Given the description of an element on the screen output the (x, y) to click on. 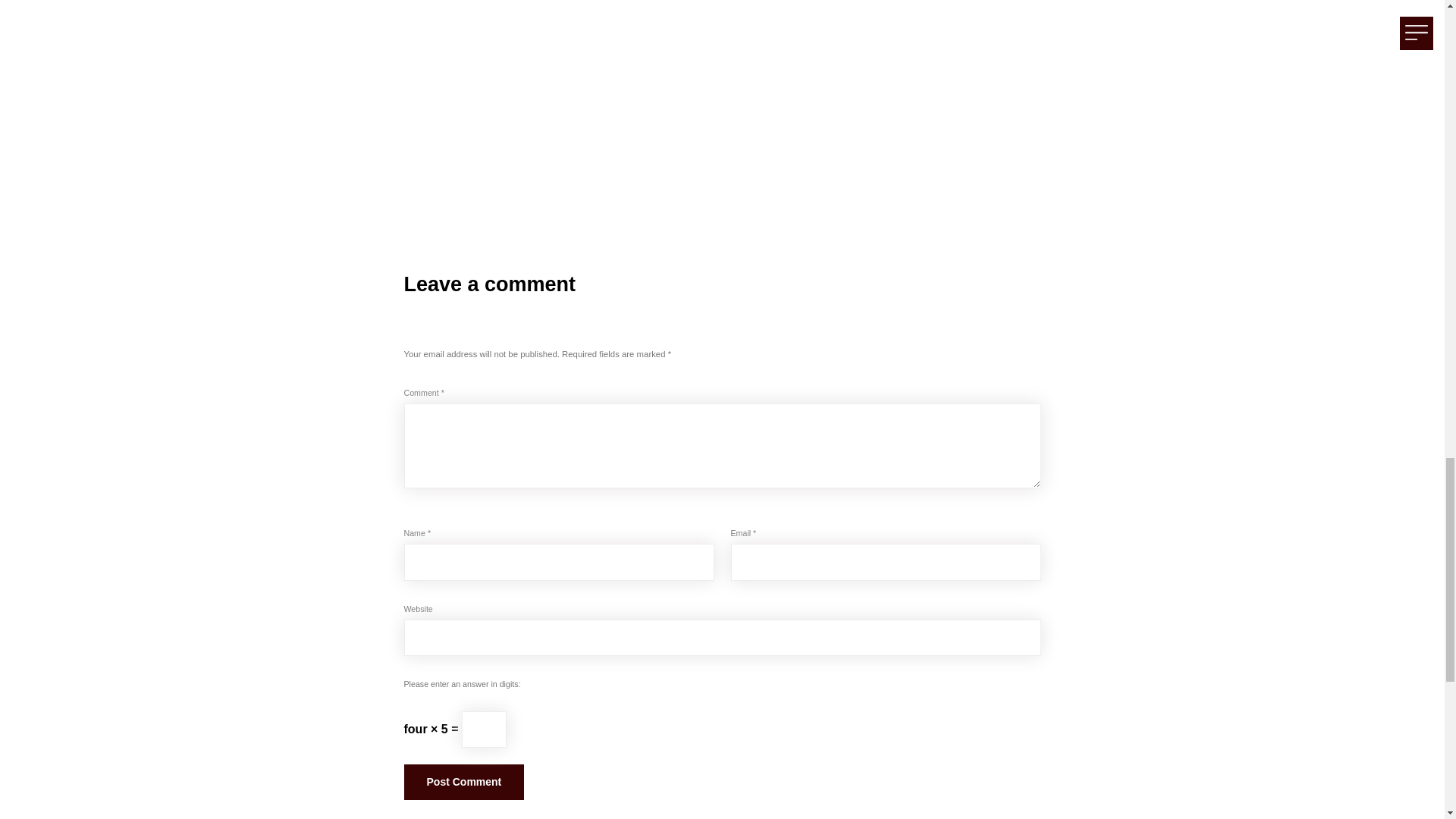
Post Comment (463, 782)
